Given the description of an element on the screen output the (x, y) to click on. 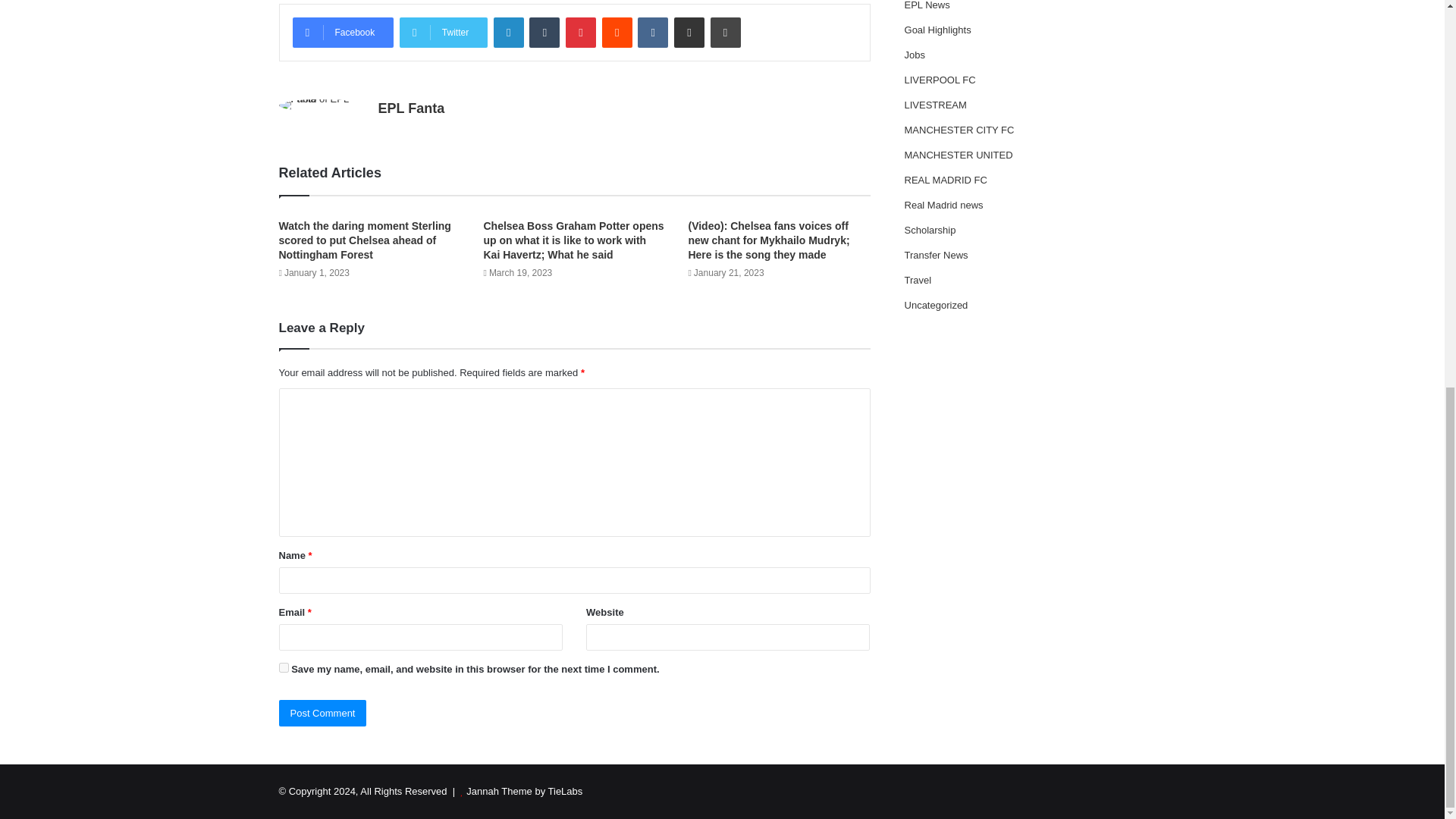
Print (725, 32)
Share via Email (689, 32)
Facebook (343, 32)
Post Comment (322, 713)
Reddit (616, 32)
Tumblr (544, 32)
Facebook (343, 32)
EPL Fanta (410, 108)
Pinterest (580, 32)
